Given the description of an element on the screen output the (x, y) to click on. 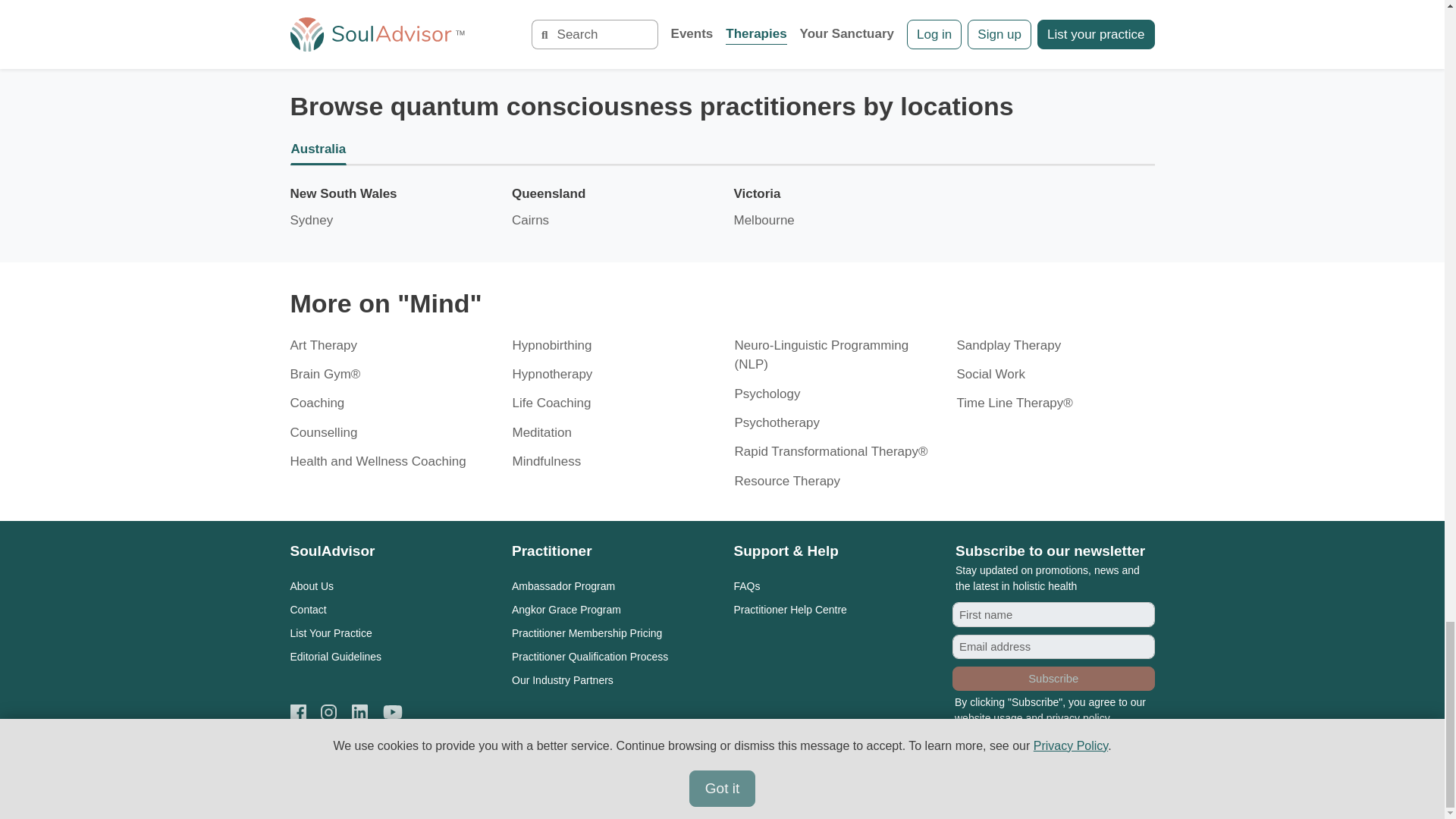
Counselling (322, 432)
Hypnotherapy (552, 373)
Australia (721, 150)
Australia (721, 150)
Coaching (316, 402)
Australia (721, 150)
Australia (721, 150)
Art Therapy (322, 345)
Health and Wellness Coaching (377, 461)
